Given the description of an element on the screen output the (x, y) to click on. 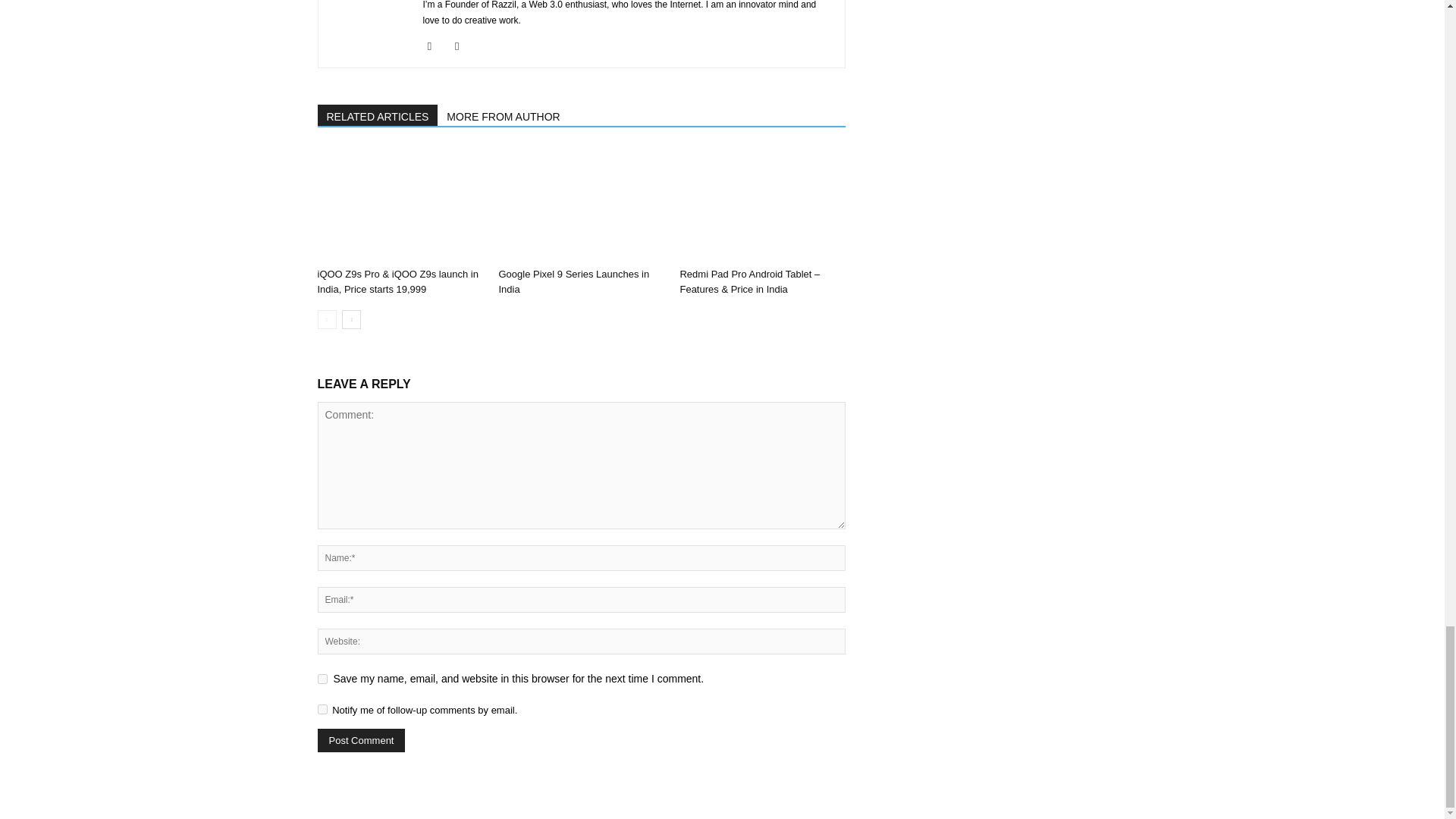
Post Comment (360, 740)
yes (321, 678)
subscribe (321, 709)
